Given the description of an element on the screen output the (x, y) to click on. 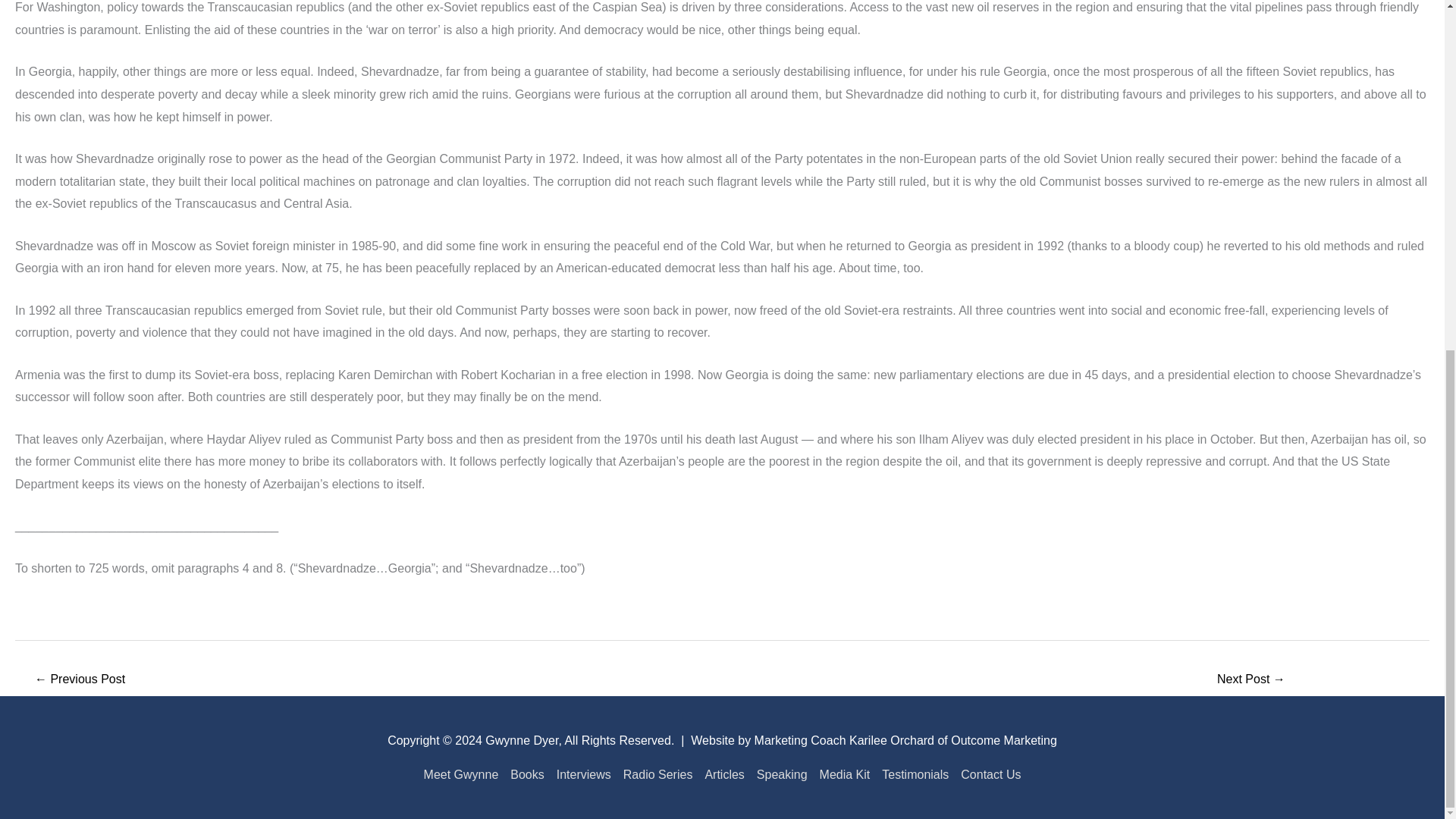
Books (526, 774)
Speaking (782, 774)
Meet Gwynne (464, 774)
Testimonials (915, 774)
Destroying Pitcairn (1251, 680)
Interviews (583, 774)
Contact Us (987, 774)
Media Kit (844, 774)
Barking Up The Wrong Bush (79, 680)
Articles (723, 774)
